Given the description of an element on the screen output the (x, y) to click on. 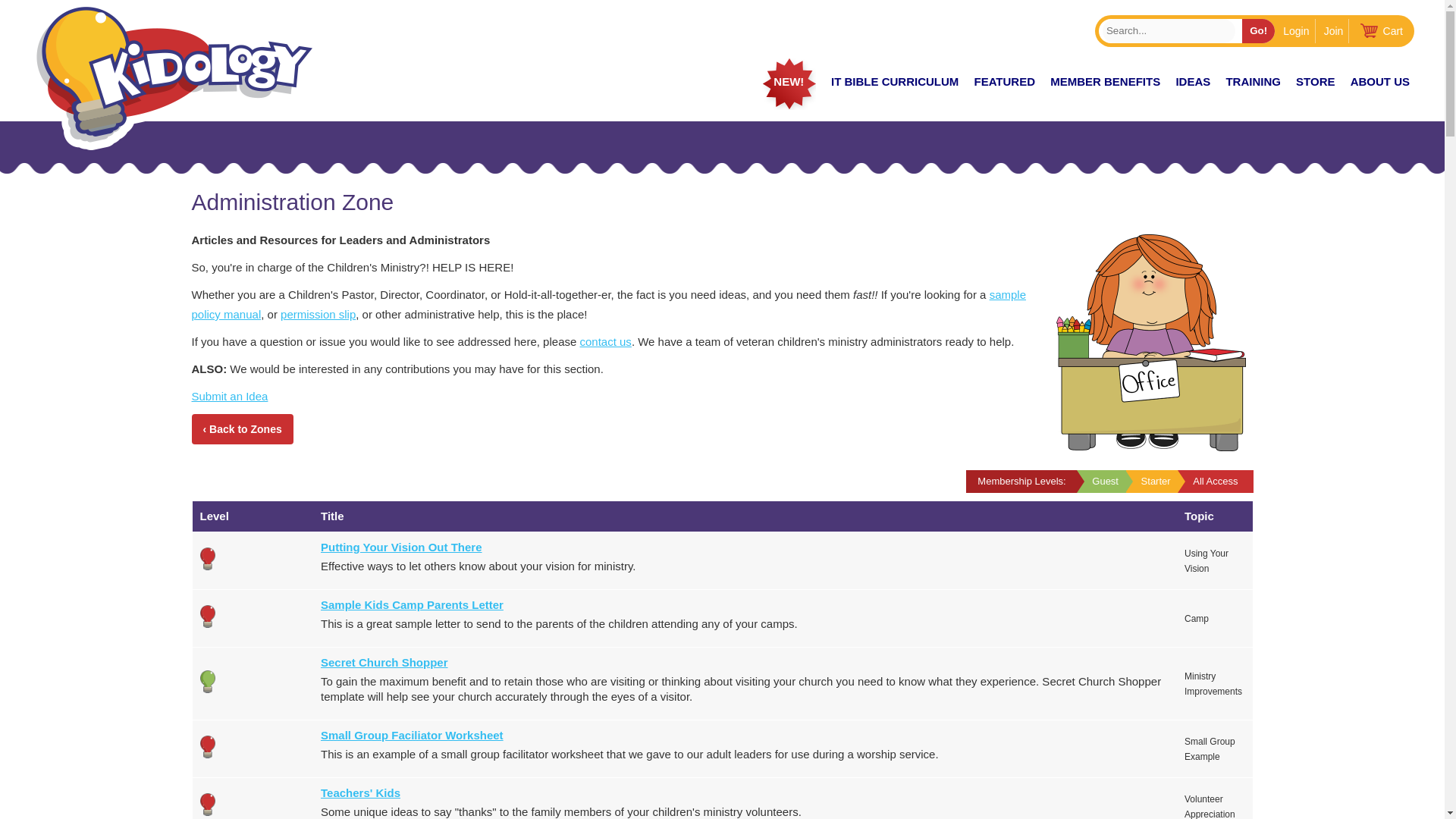
Go! (1258, 30)
FEATURED (1004, 83)
All Access (207, 803)
Login (1296, 30)
Go! (1258, 30)
All Access (207, 558)
Join (1334, 30)
IT BIBLE CURRICULUM (895, 83)
All Access (207, 746)
Free (207, 681)
Go! (1258, 30)
Check out what's new! (788, 83)
MEMBER BENEFITS (1104, 83)
Cart (1377, 30)
All Access (207, 616)
